Given the description of an element on the screen output the (x, y) to click on. 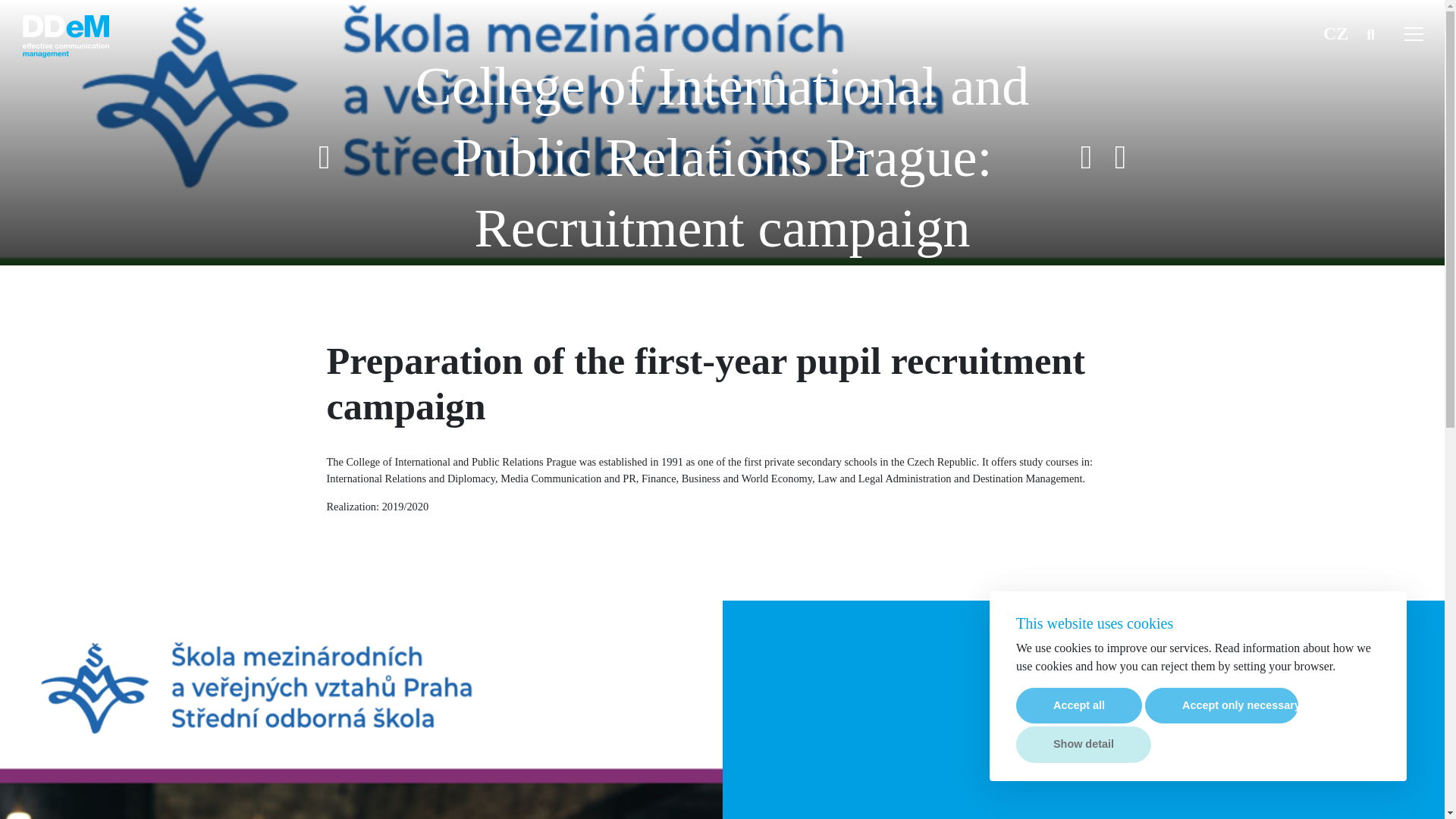
Show detail (1083, 744)
Open in new window (360, 795)
Accept only necessary (1221, 705)
WebActive s.r.o. (360, 795)
CZ (1335, 33)
Search (1375, 33)
Accept all (1078, 705)
